Given the description of an element on the screen output the (x, y) to click on. 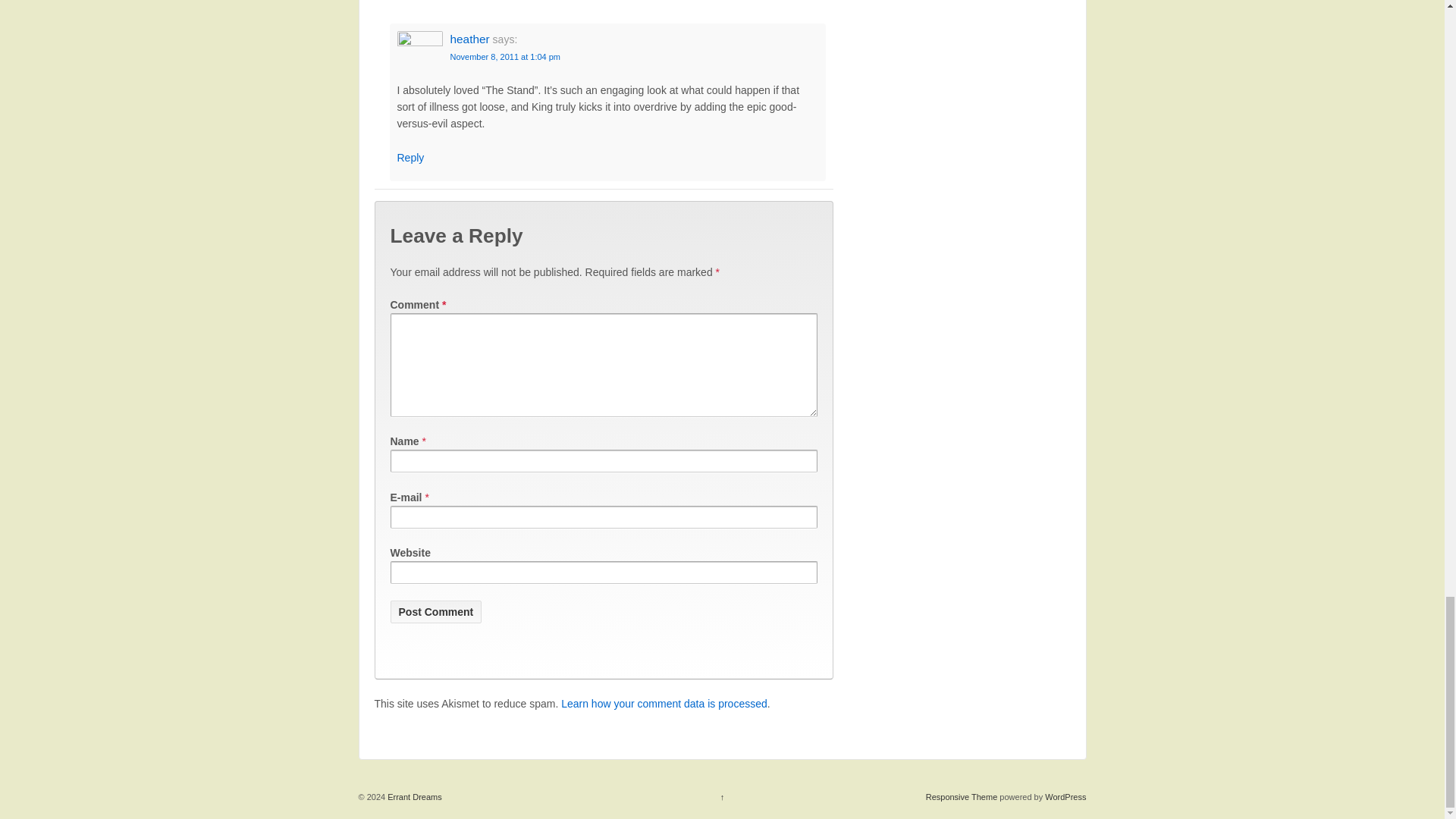
November 8, 2011 at 1:04 pm (504, 56)
heather (469, 38)
Reply (411, 157)
Post Comment (435, 611)
